Given the description of an element on the screen output the (x, y) to click on. 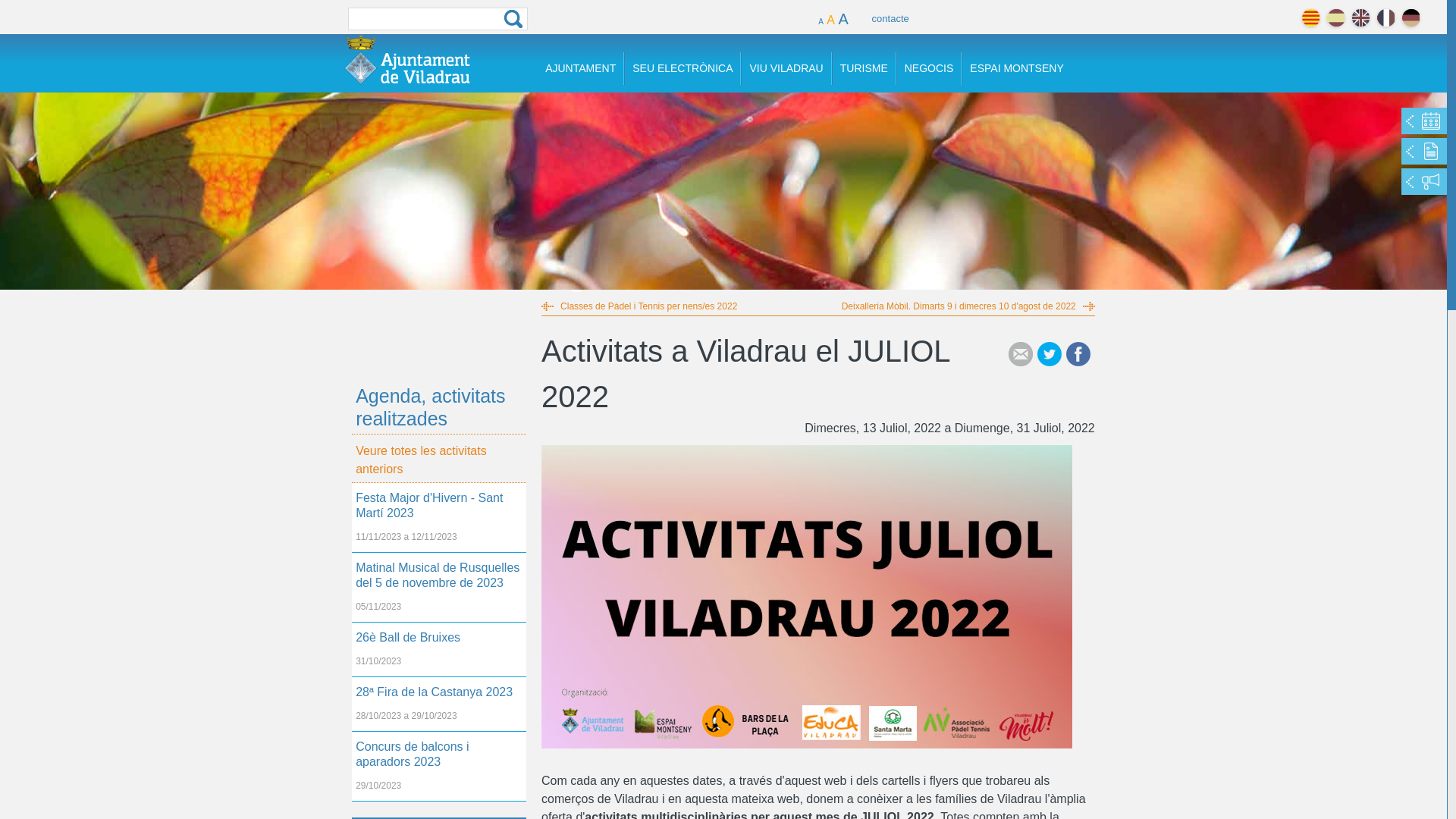
Inici Element type: hover (407, 59)
A Element type: text (820, 18)
05/11/2023 Element type: text (438, 610)
VIU VILADRAU Element type: text (785, 68)
29/10/2023 Element type: text (438, 789)
Facebook Element type: text (1078, 354)
deutch Element type: text (1410, 17)
11/11/2023 a 12/11/2023 Element type: text (438, 540)
A Element type: text (830, 16)
Jump to navigation Element type: text (723, 2)
TURISME Element type: text (863, 68)
Tweet Element type: text (1049, 354)
Matinal Musical de Rusquelles del 5 de novembre de 2023 Element type: text (438, 575)
Concurs de balcons i aparadors 2023 Element type: text (438, 754)
contacte Element type: text (890, 15)
A Element type: text (842, 15)
NEGOCIS Element type: text (929, 68)
english Element type: text (1360, 17)
Cerca Element type: text (513, 18)
ESPAI MONTSENY Element type: text (1015, 68)
AJUNTAMENT Element type: text (580, 68)
31/10/2023 Element type: text (438, 664)
e-mail Element type: text (1020, 354)
Veure totes les activitats anteriors Element type: text (438, 458)
28/10/2023 a 29/10/2023 Element type: text (438, 719)
